Given the description of an element on the screen output the (x, y) to click on. 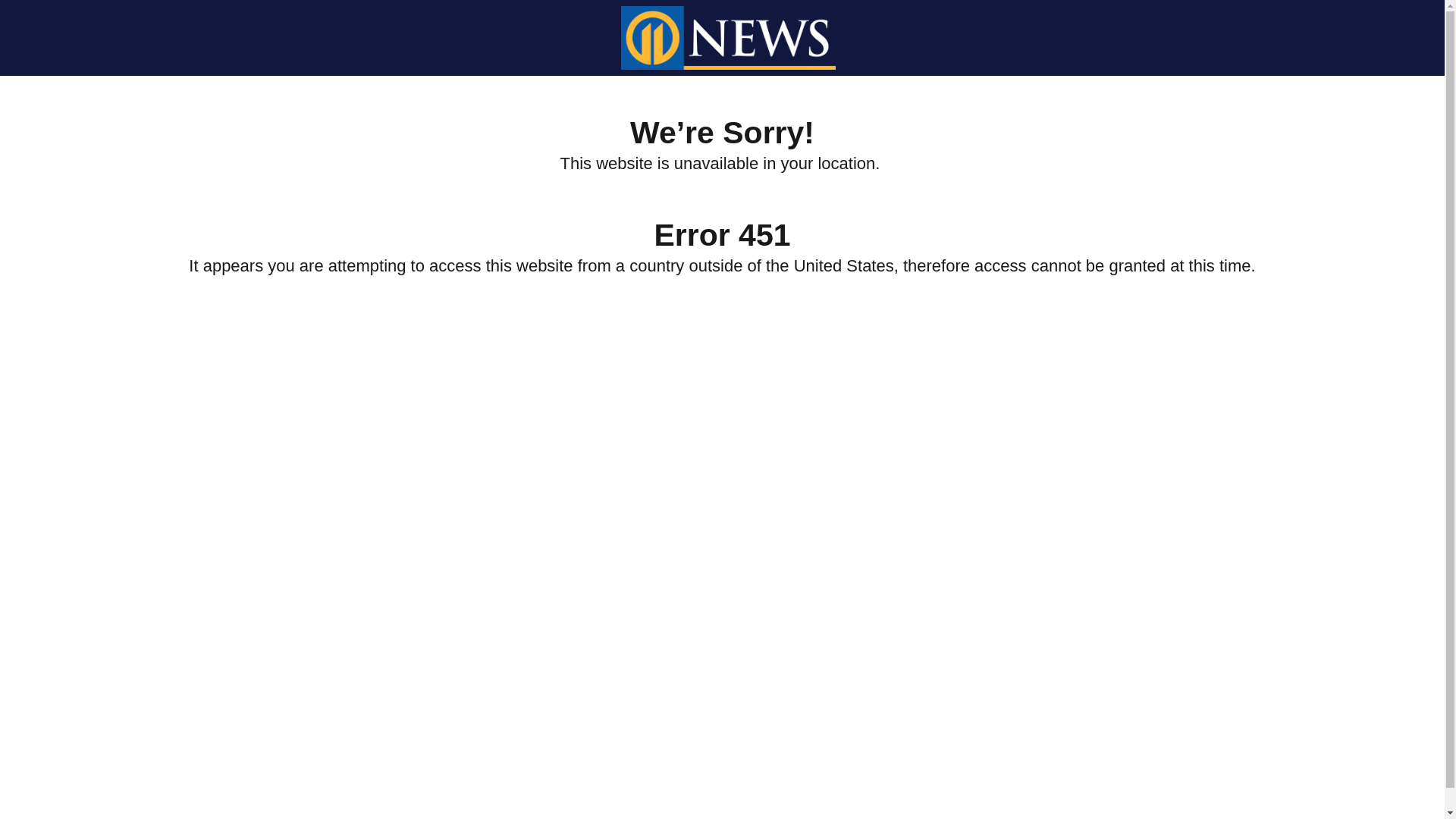
WPXI Channel 11 Pittsburgh Logo (728, 37)
